Given the description of an element on the screen output the (x, y) to click on. 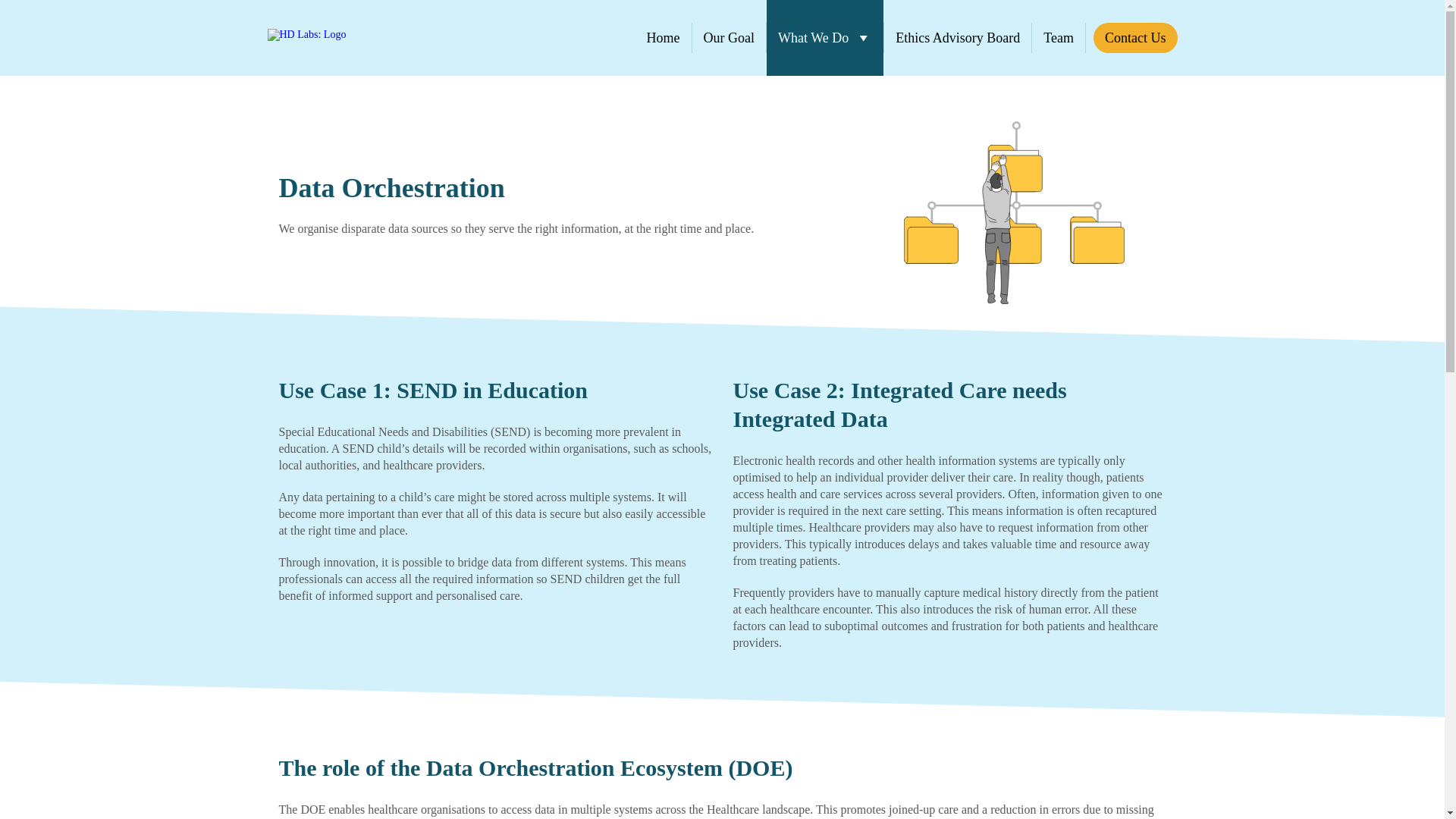
Our Goal (729, 38)
What We Do (825, 38)
Ethics Advisory Board (956, 38)
Contact Us (1135, 37)
